Given the description of an element on the screen output the (x, y) to click on. 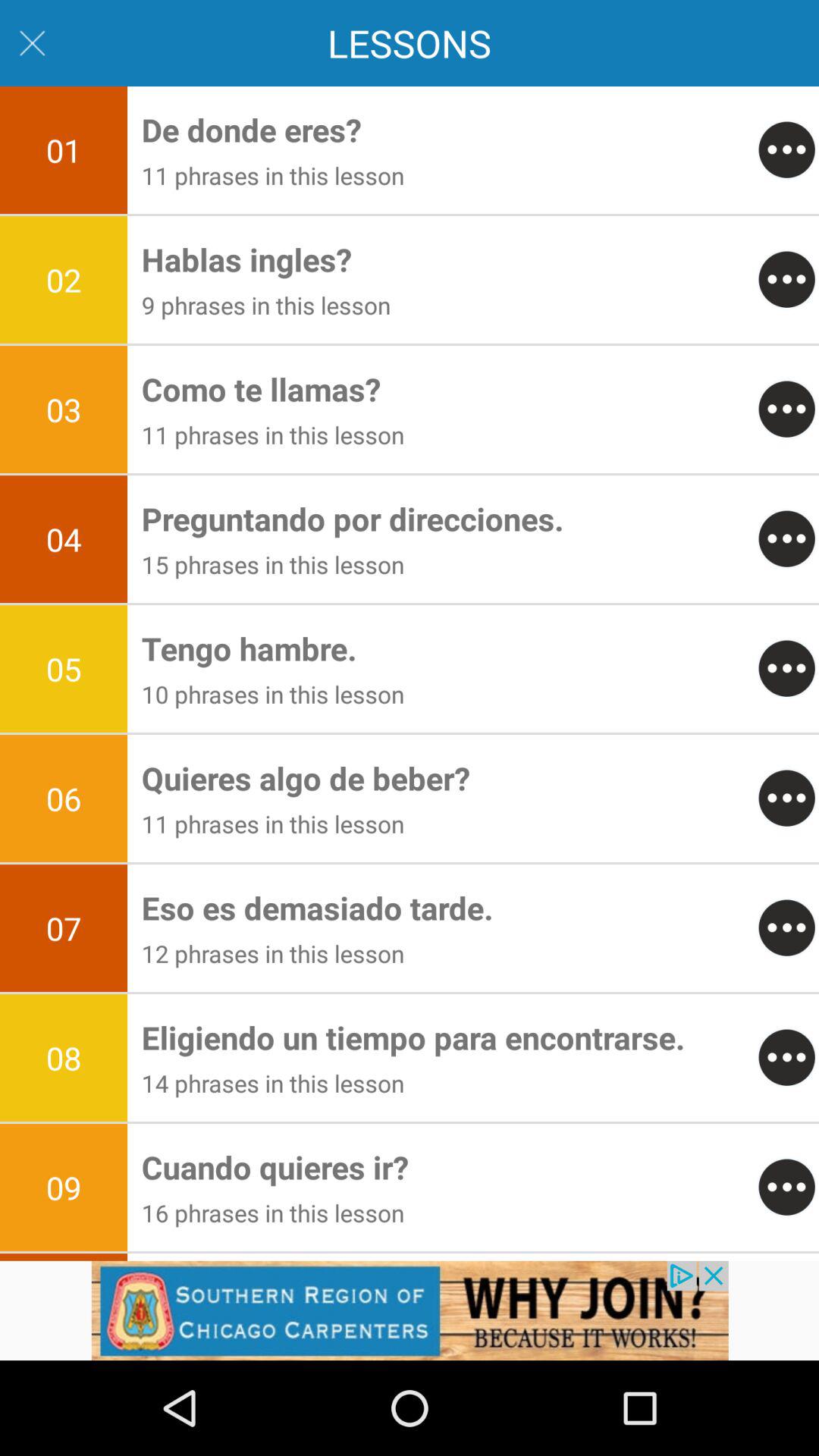
close this screen (32, 43)
